Given the description of an element on the screen output the (x, y) to click on. 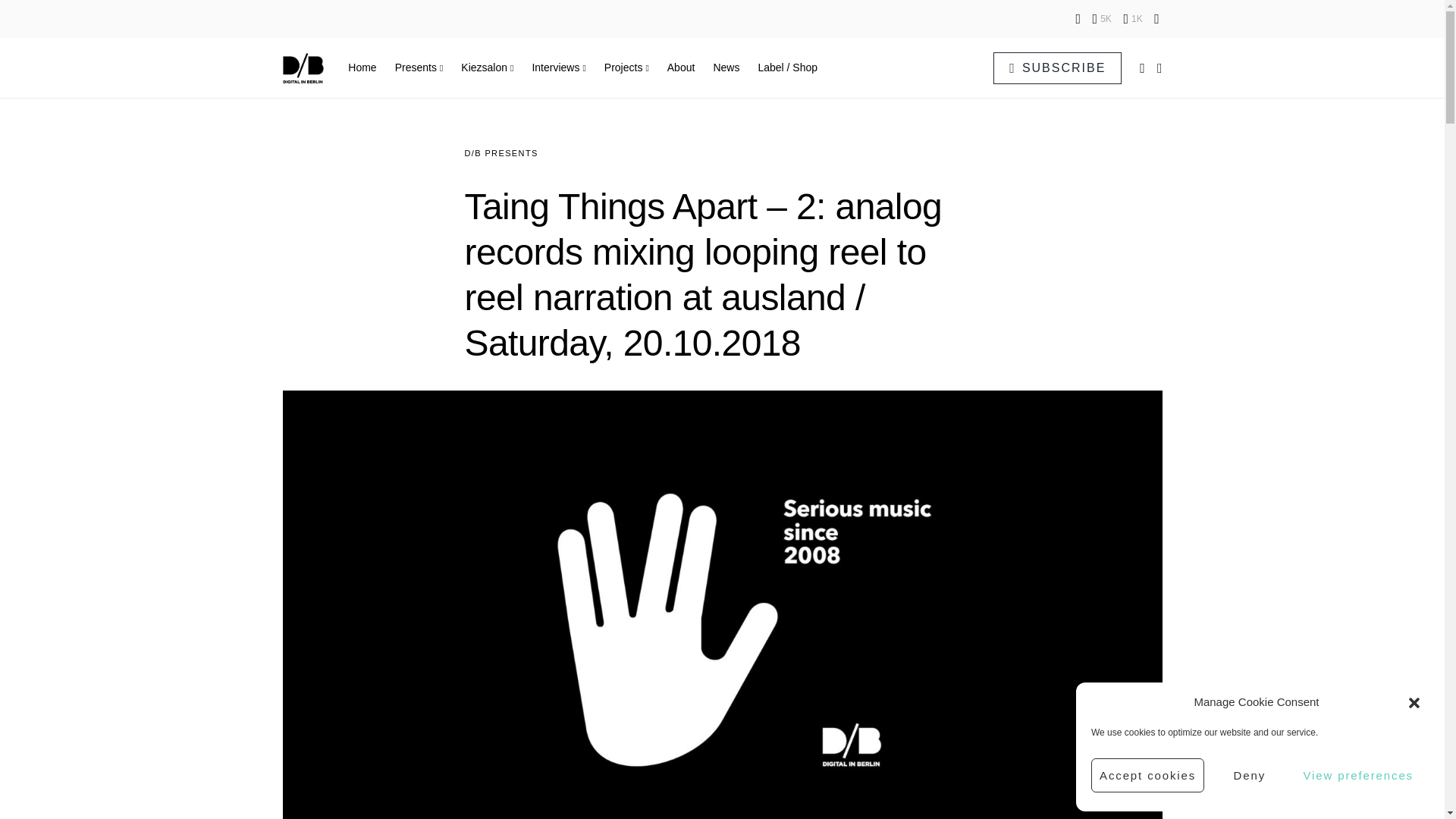
View preferences (1358, 775)
Deny (1249, 775)
Accept cookies (1147, 775)
